Given the description of an element on the screen output the (x, y) to click on. 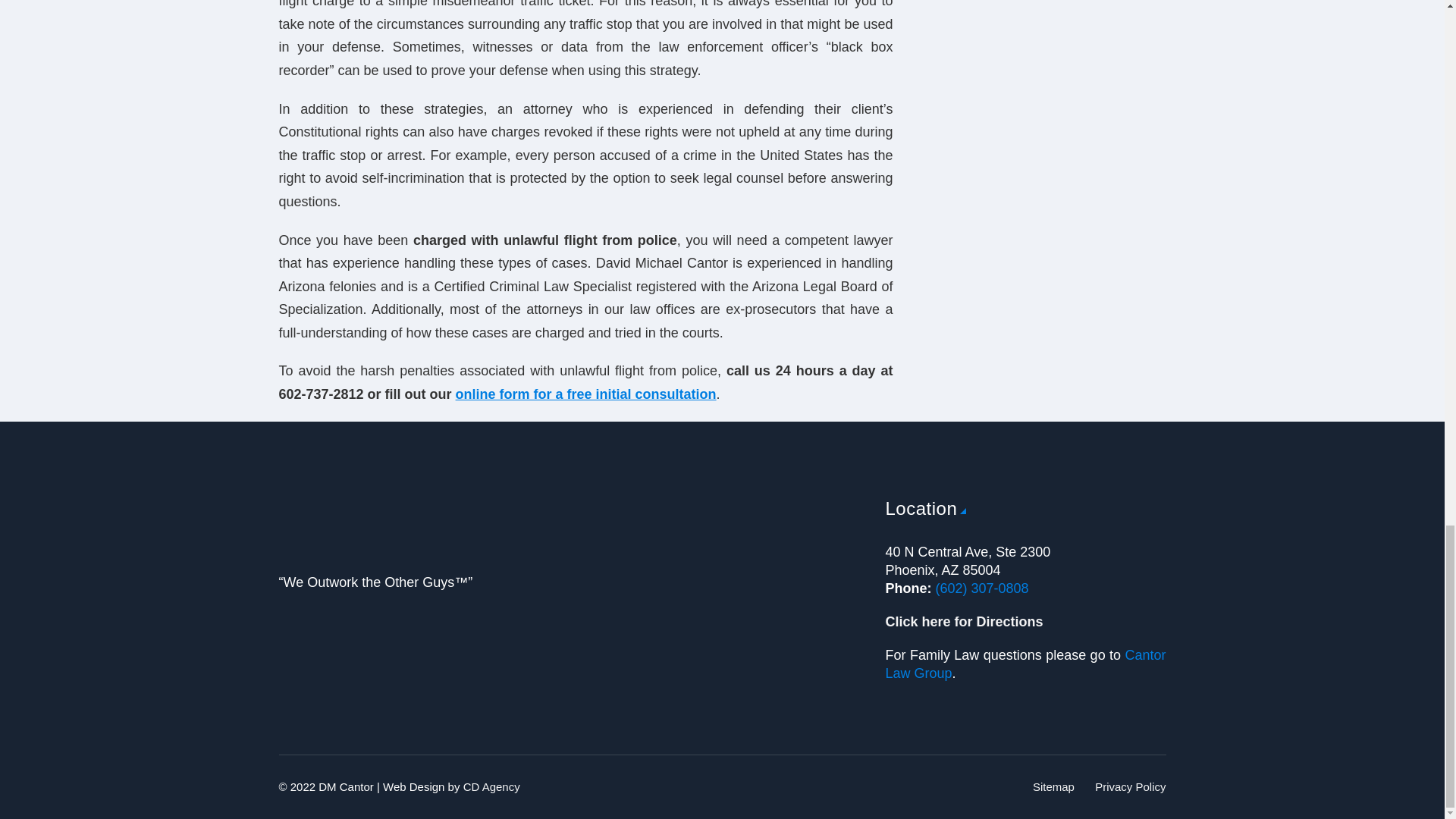
CD Agency (491, 786)
Sitemap (1053, 786)
Click here for Directions (964, 621)
online form for a free initial consultation (585, 394)
Click here for Directions (964, 621)
Privacy Policy (1130, 786)
Cantor Law Group (1025, 663)
